Given the description of an element on the screen output the (x, y) to click on. 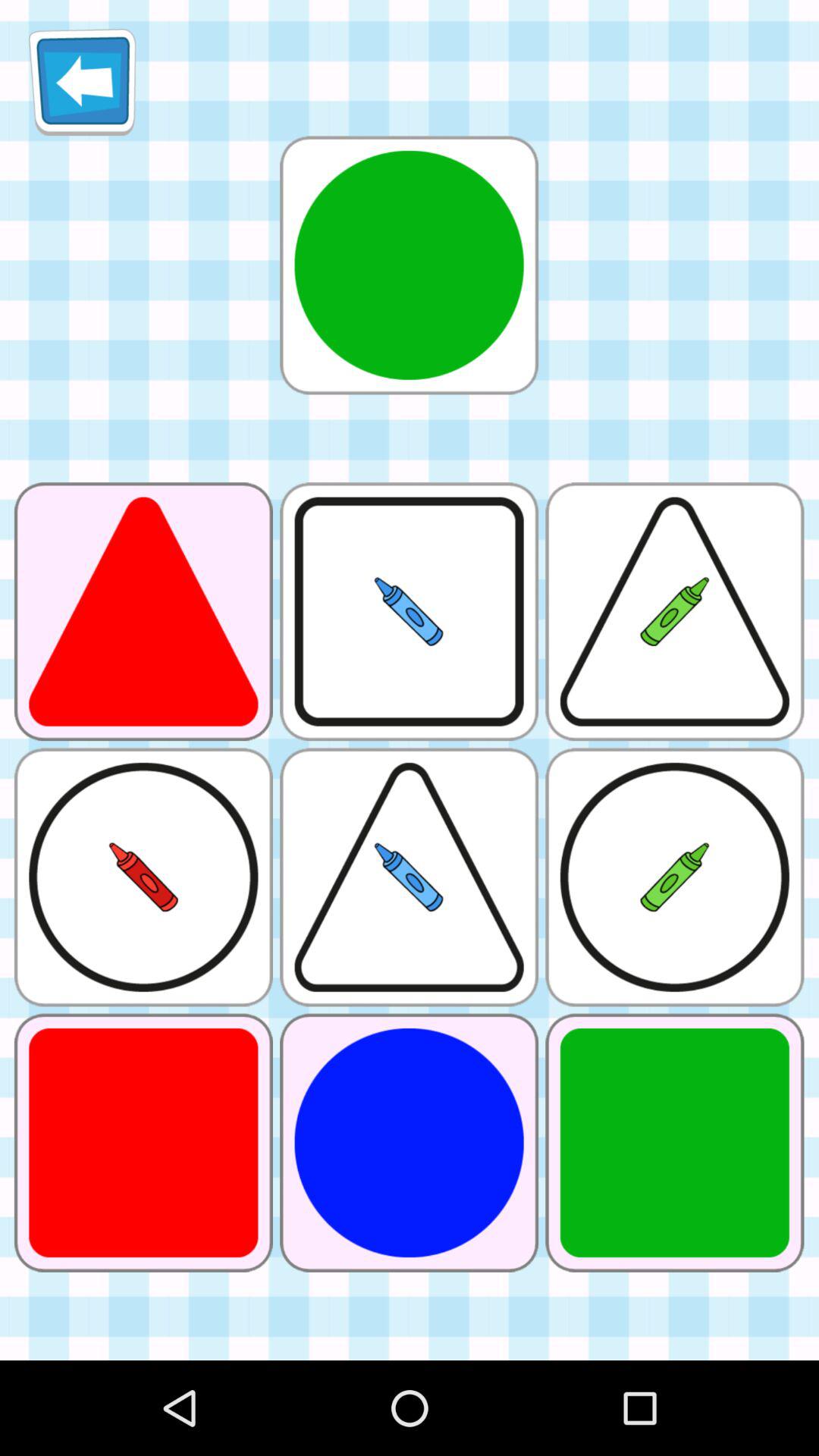
select it (409, 265)
